Given the description of an element on the screen output the (x, y) to click on. 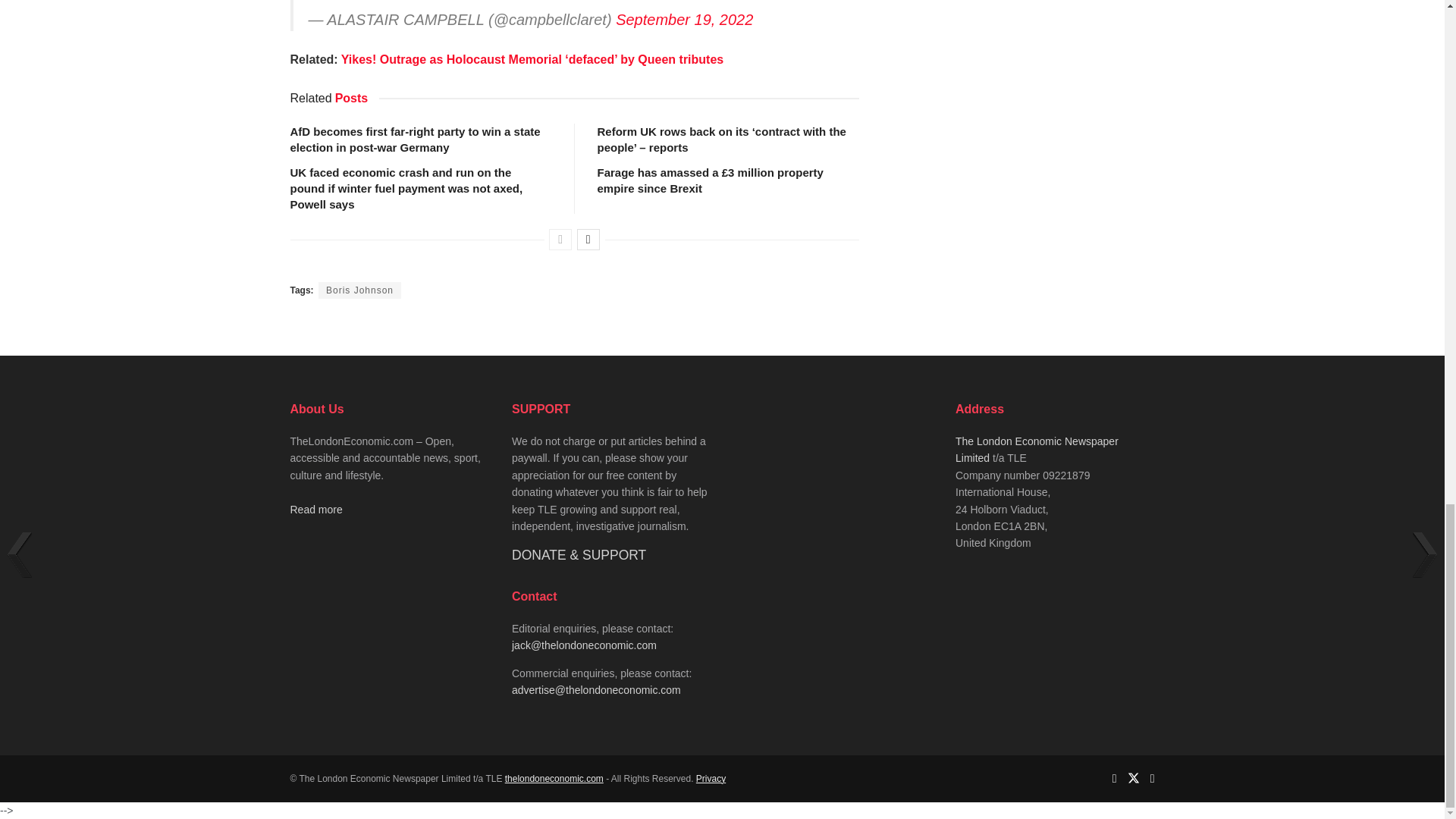
The London Economic (554, 778)
Previous (560, 239)
Next (587, 239)
Privacy (710, 778)
